Given the description of an element on the screen output the (x, y) to click on. 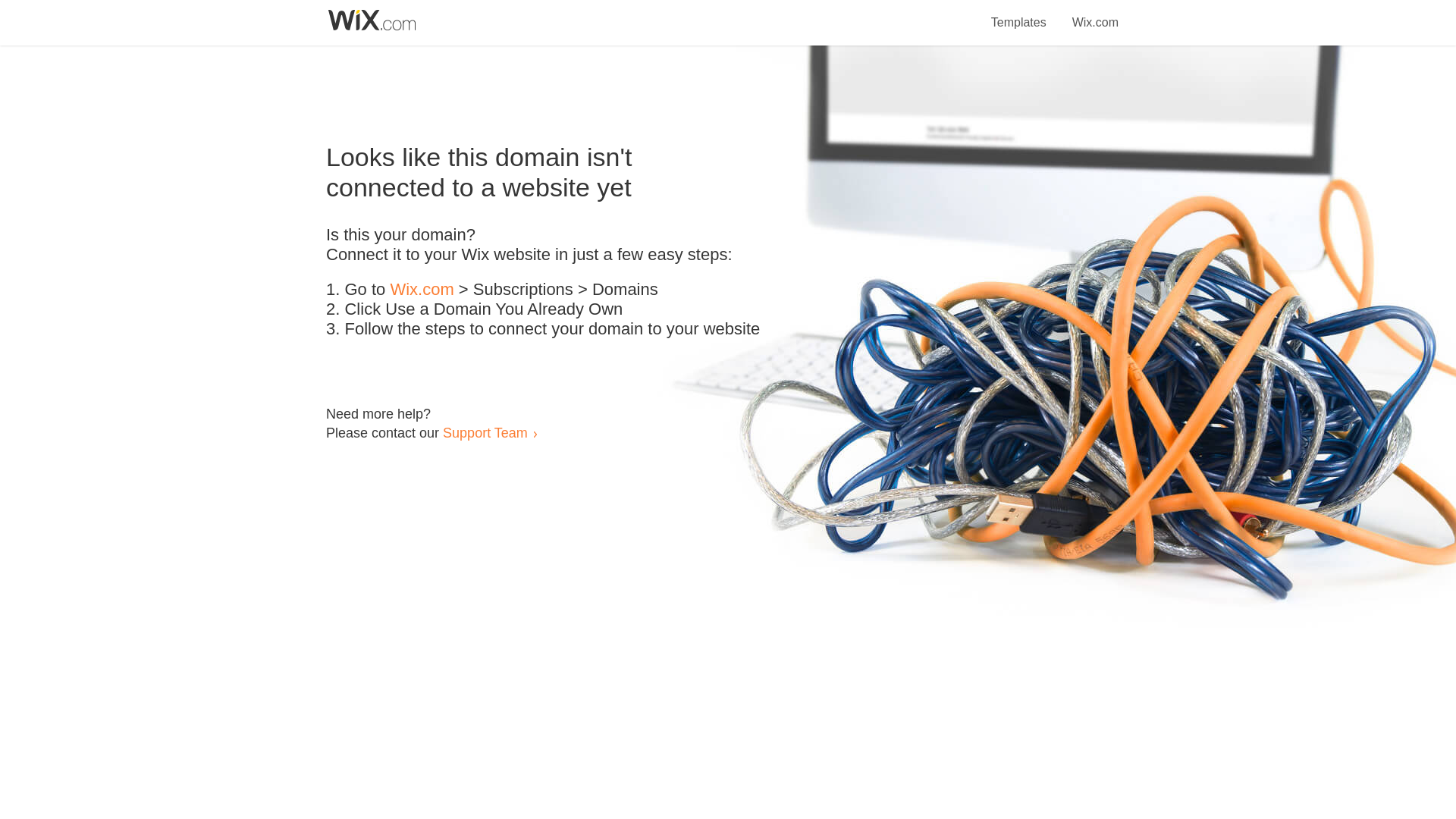
Support Team (484, 432)
Wix.com (421, 289)
Templates (1018, 14)
Wix.com (1095, 14)
